Given the description of an element on the screen output the (x, y) to click on. 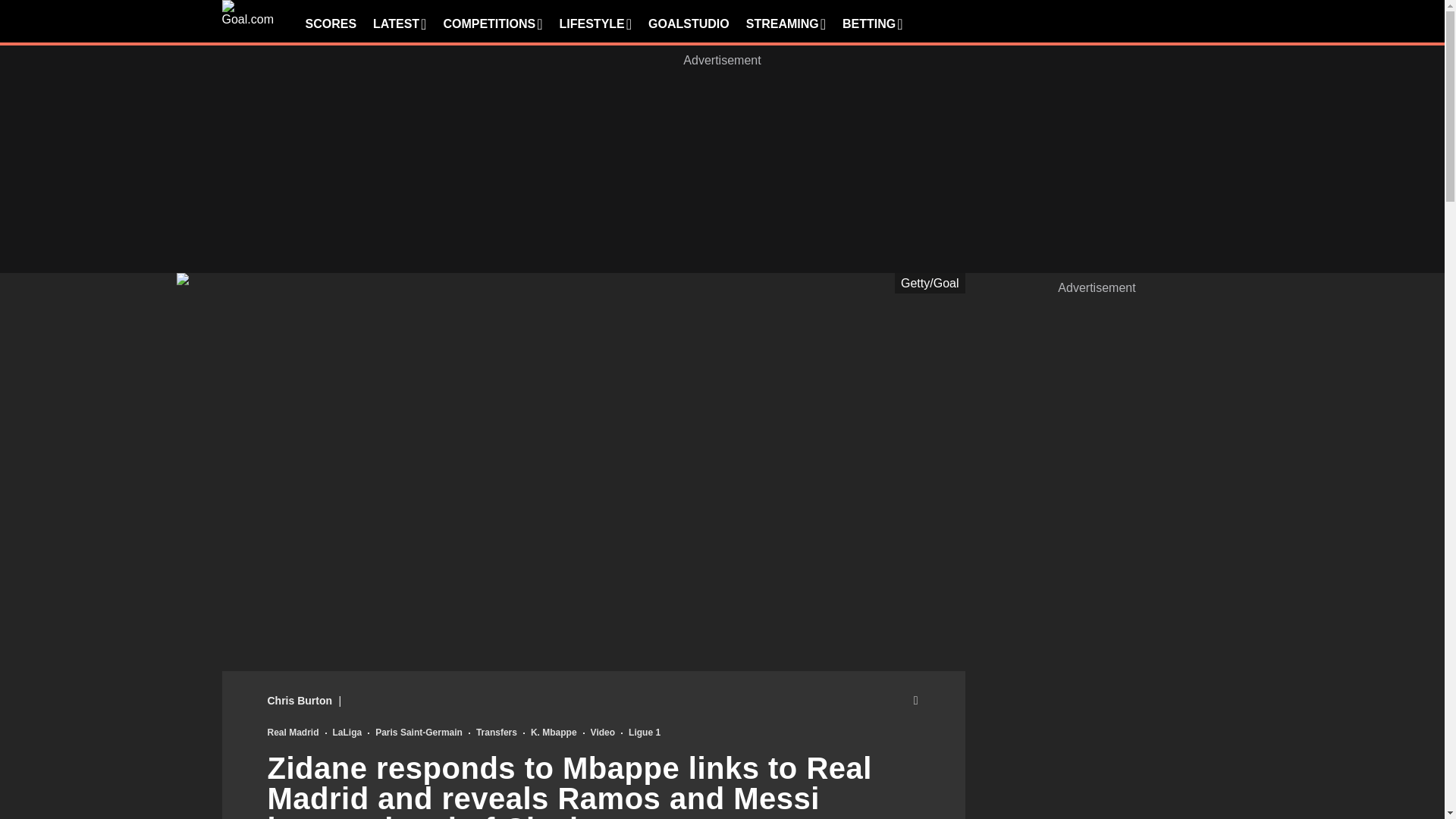
LATEST (399, 23)
LaLiga (347, 733)
Paris Saint-Germain (419, 733)
Video (602, 733)
Ligue 1 (644, 733)
SCORES (330, 23)
K. Mbappe (553, 733)
Real Madrid (292, 733)
Transfers (496, 733)
COMPETITIONS (491, 23)
